Given the description of an element on the screen output the (x, y) to click on. 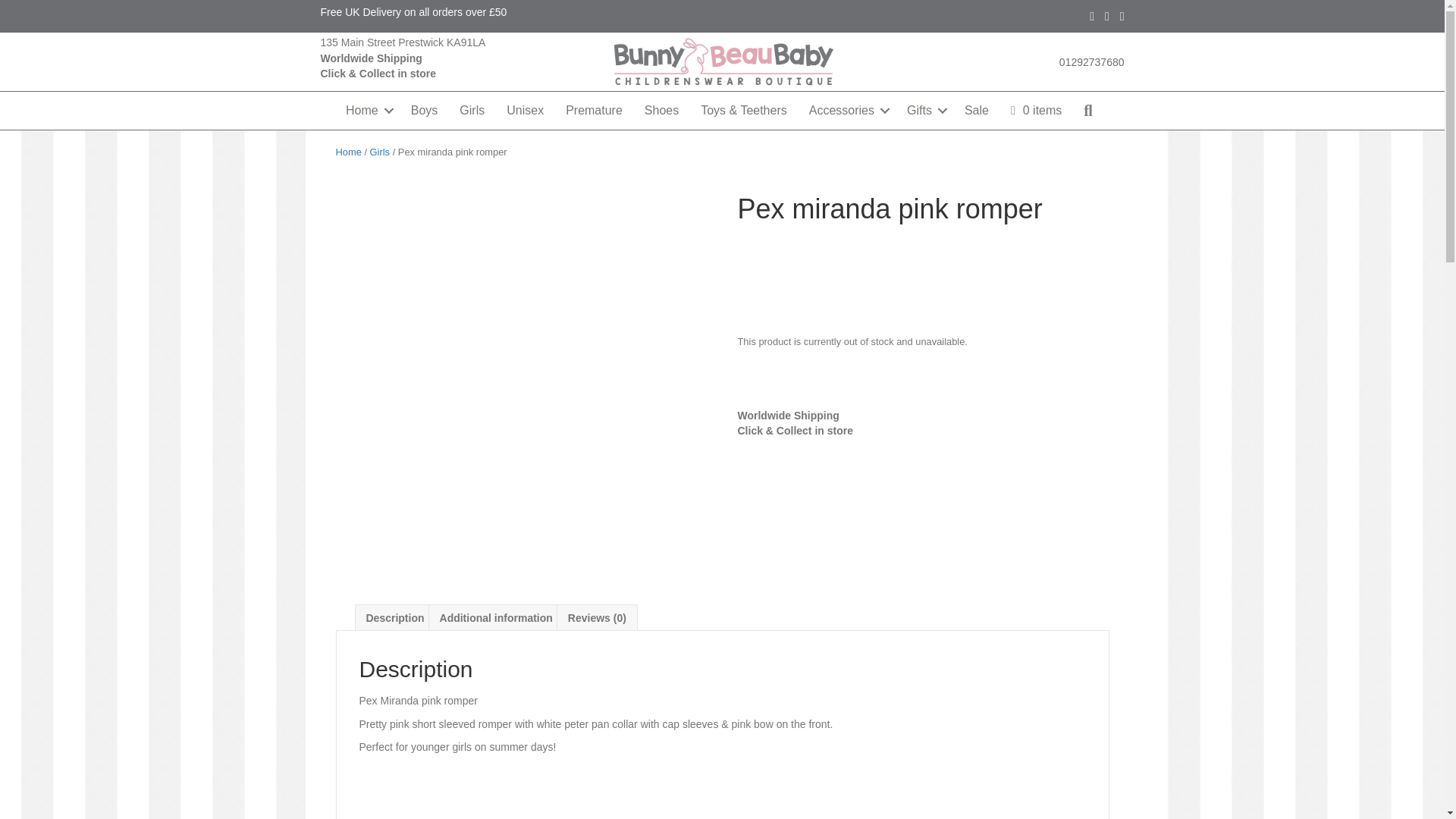
Girls (379, 152)
Bunny Beau Baby Logo (721, 61)
Gifts (924, 110)
Accessories (846, 110)
Boys (424, 110)
Start shopping (1035, 110)
Home (347, 152)
Home (366, 110)
Unisex (525, 110)
Description (394, 617)
